Given the description of an element on the screen output the (x, y) to click on. 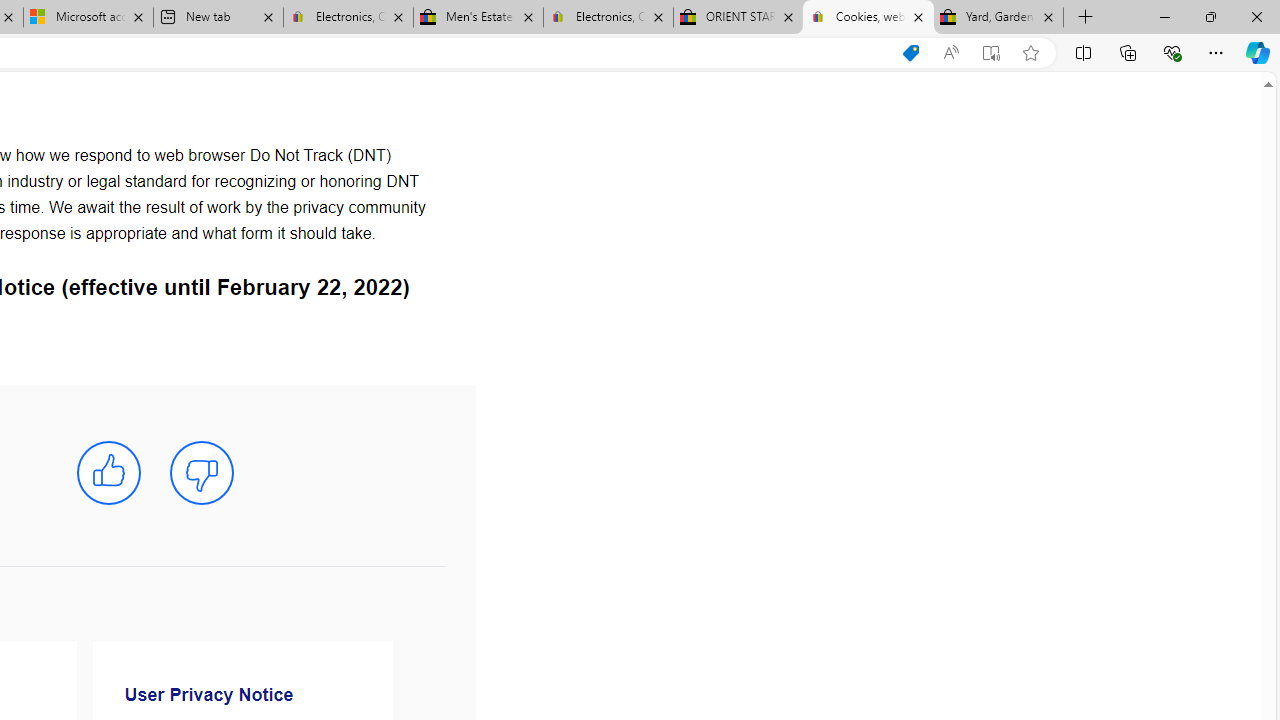
This site has coupons! Shopping in Microsoft Edge (910, 53)
Yard, Garden & Outdoor Living (998, 17)
Microsoft account | Account Checkup (88, 17)
mark this article helpful (108, 473)
